Given the description of an element on the screen output the (x, y) to click on. 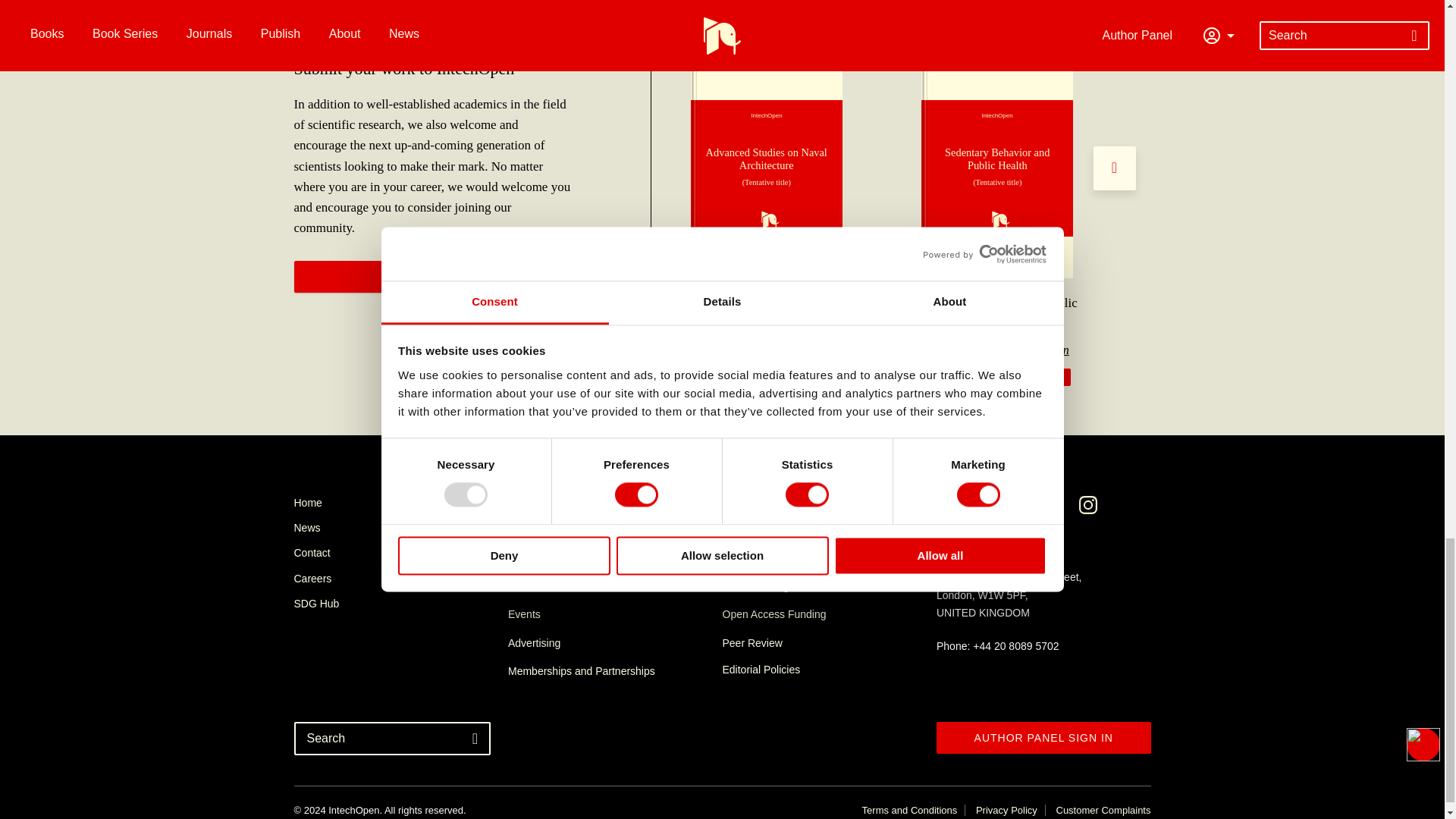
IntechOpen (766, 167)
IntechOpen (997, 167)
